Given the description of an element on the screen output the (x, y) to click on. 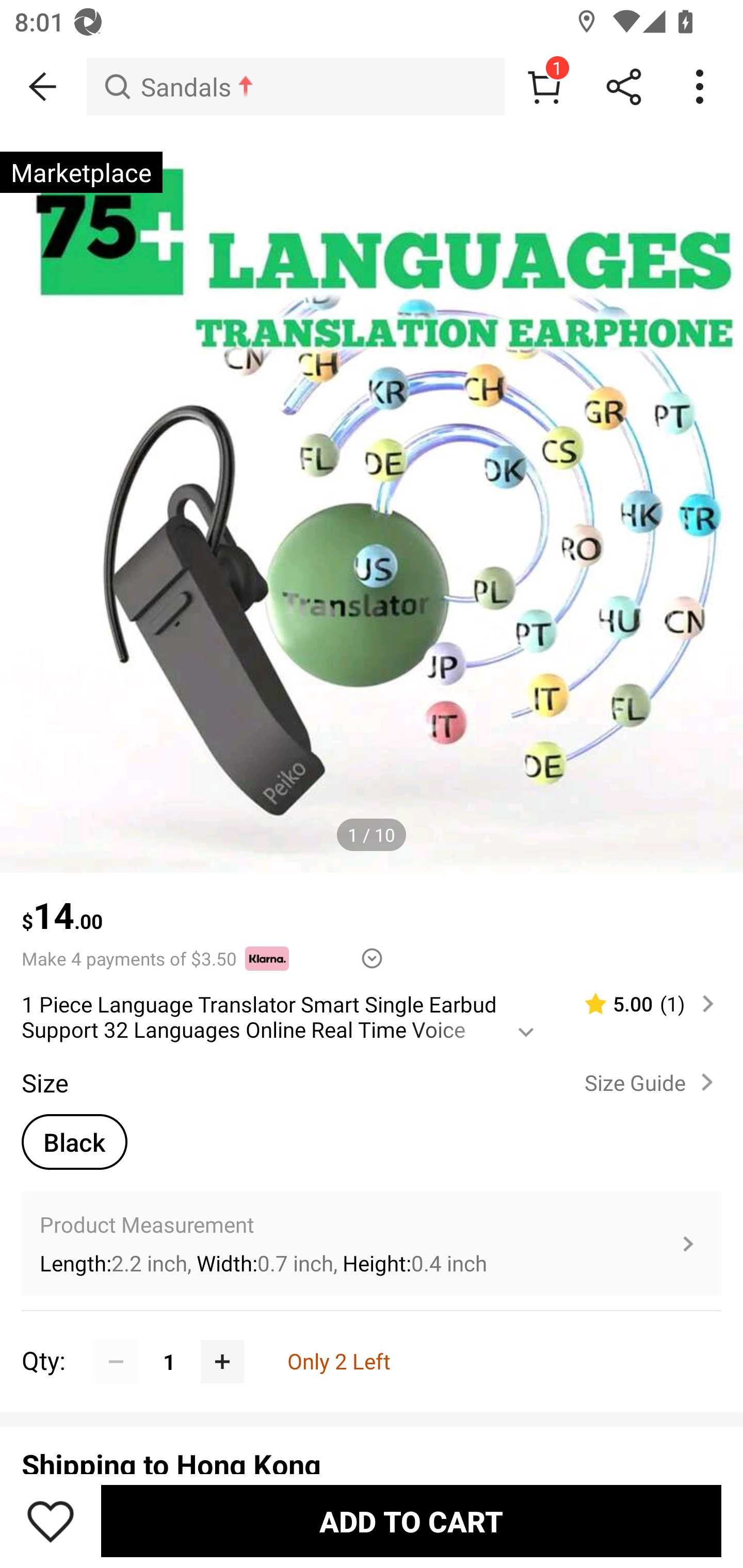
BACK (43, 86)
1 (543, 87)
Sandals (295, 87)
PHOTOS Marketplace 1 / 10 (371, 501)
1 / 10 (371, 834)
$14.00 Make 4 payments of $3.50 (371, 921)
5.00 (1) (640, 1003)
Size (44, 1082)
Size Guide (652, 1082)
Black Blackselected option (74, 1141)
Qty: 1 Only 2 Left (371, 1338)
Shipping to Hong Kong (371, 1458)
ADD TO CART (411, 1520)
Save (50, 1520)
